Given the description of an element on the screen output the (x, y) to click on. 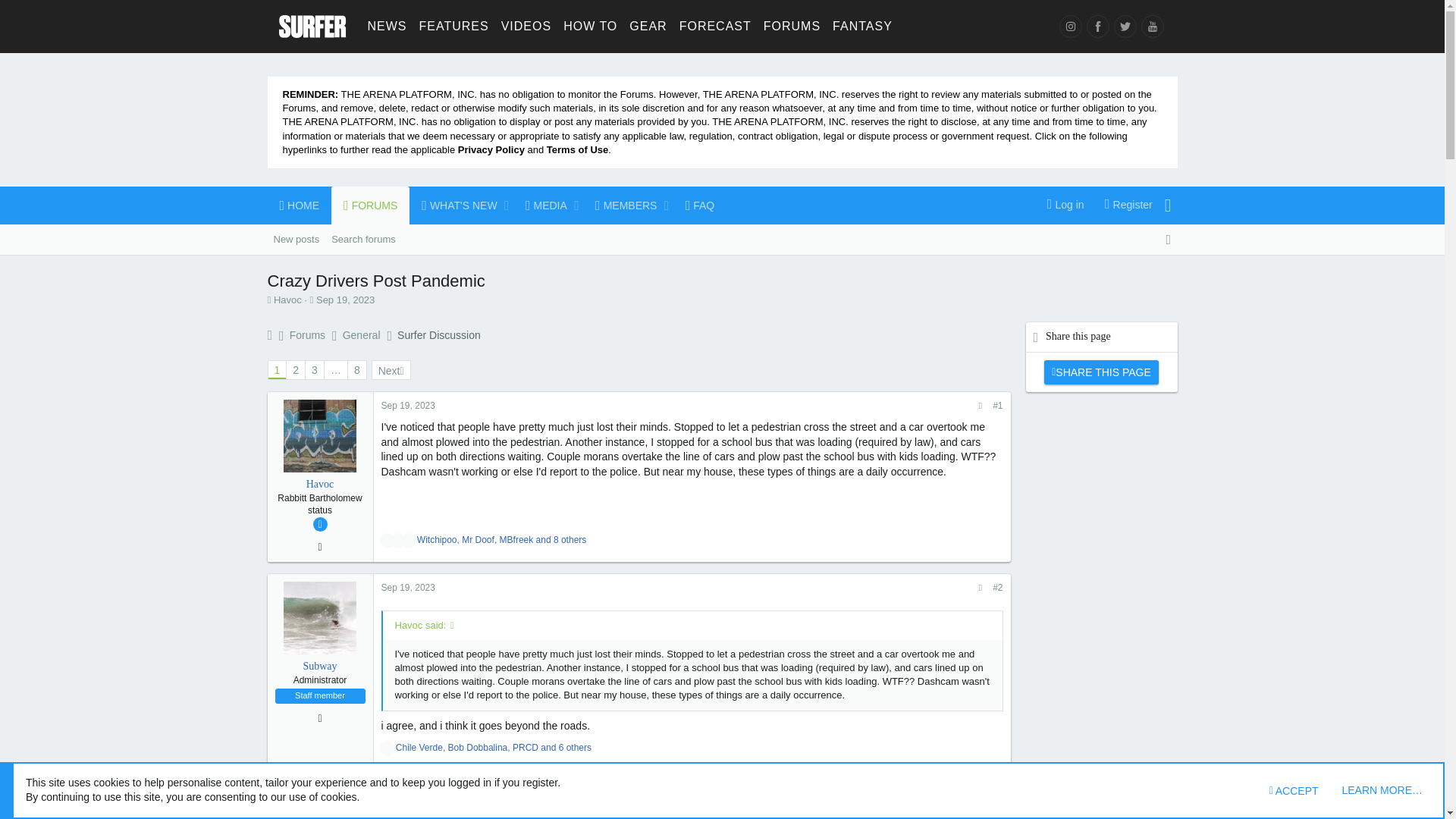
Terms of Use (577, 149)
FORUMS (1100, 349)
NEWS (370, 205)
SURFER Magazine on YouTube (386, 25)
SURFER Magazine on Facebook (1151, 26)
GEAR (496, 205)
FEATURES (1097, 26)
SURFER Magazine on Instagram (647, 25)
